Given the description of an element on the screen output the (x, y) to click on. 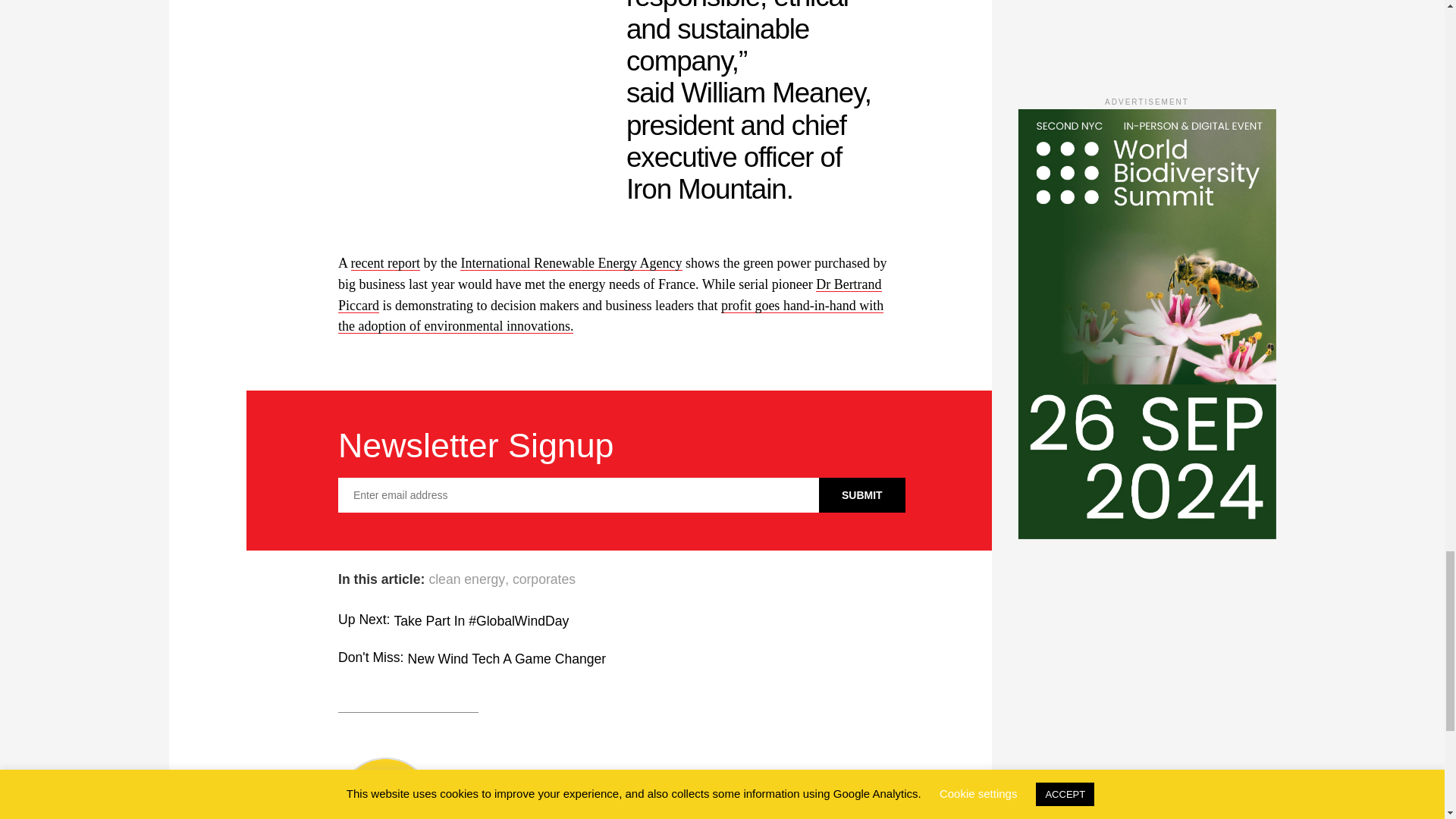
Posts by Staff reporter (676, 808)
Submit (861, 494)
